Given the description of an element on the screen output the (x, y) to click on. 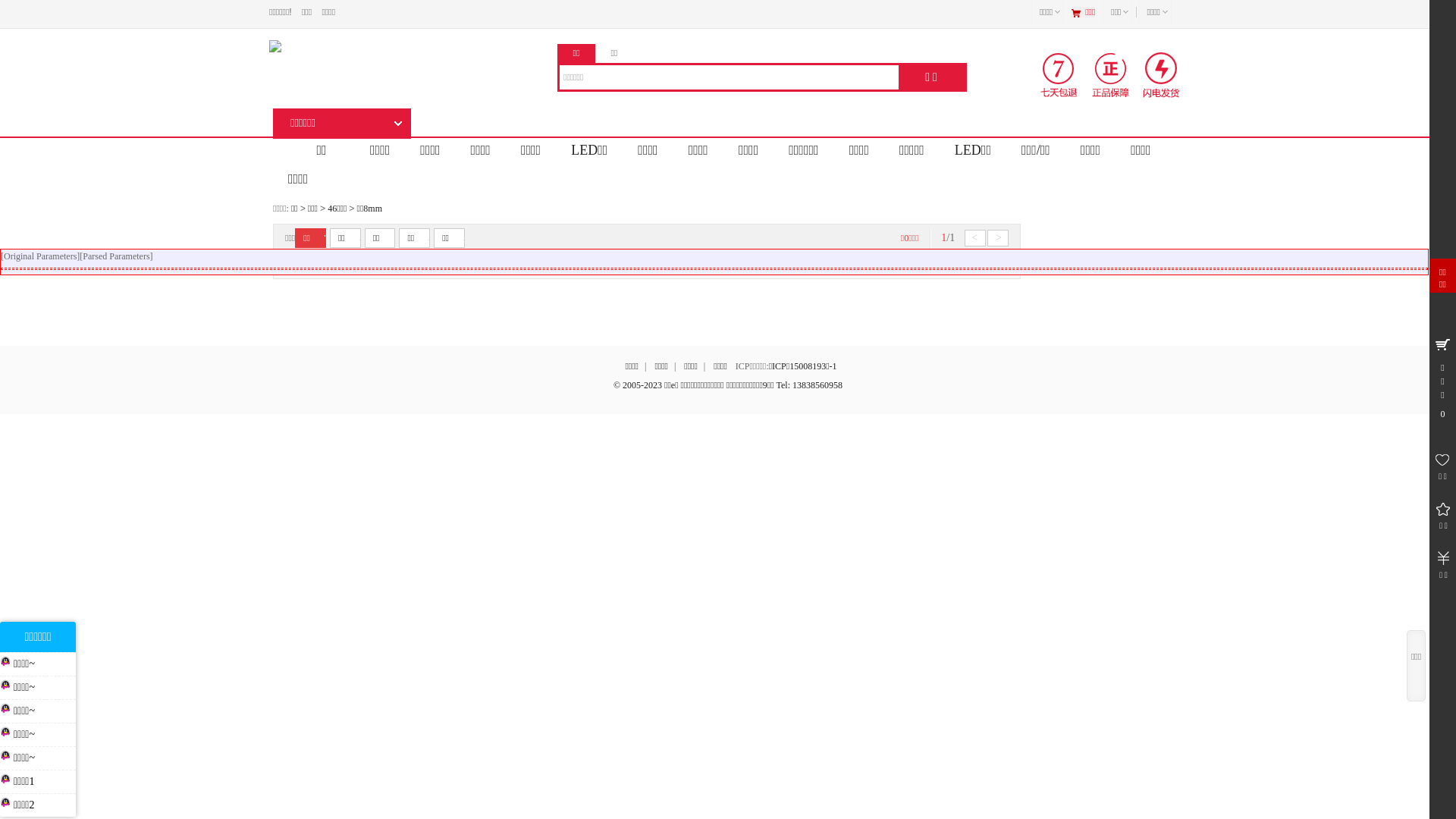
on Element type: text (284, 264)
logo Element type: hover (394, 46)
